Given the description of an element on the screen output the (x, y) to click on. 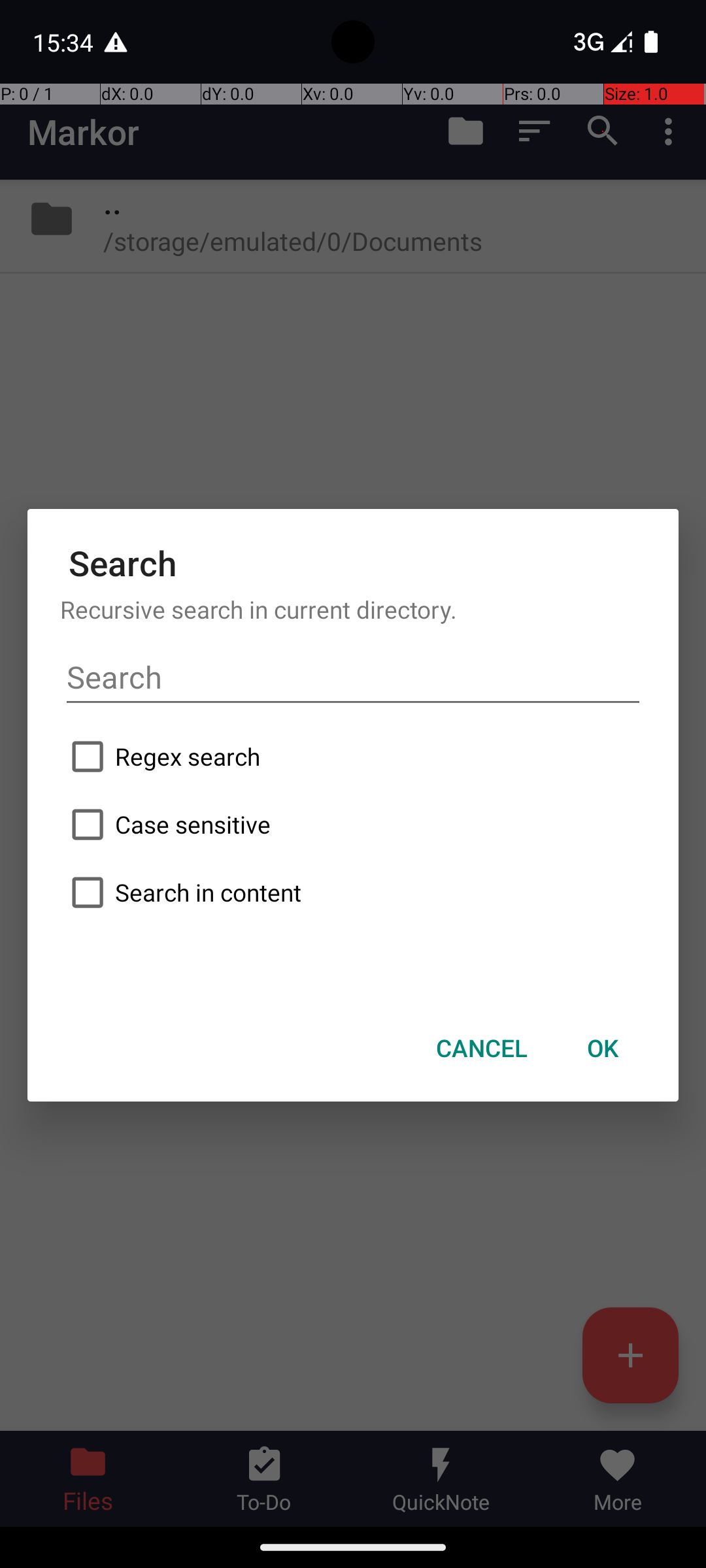
Recursive search in current directory. Element type: android.widget.TextView (352, 608)
Regex search Element type: android.widget.CheckBox (352, 756)
Case sensitive Element type: android.widget.CheckBox (352, 824)
Search in content Element type: android.widget.CheckBox (352, 892)
